Given the description of an element on the screen output the (x, y) to click on. 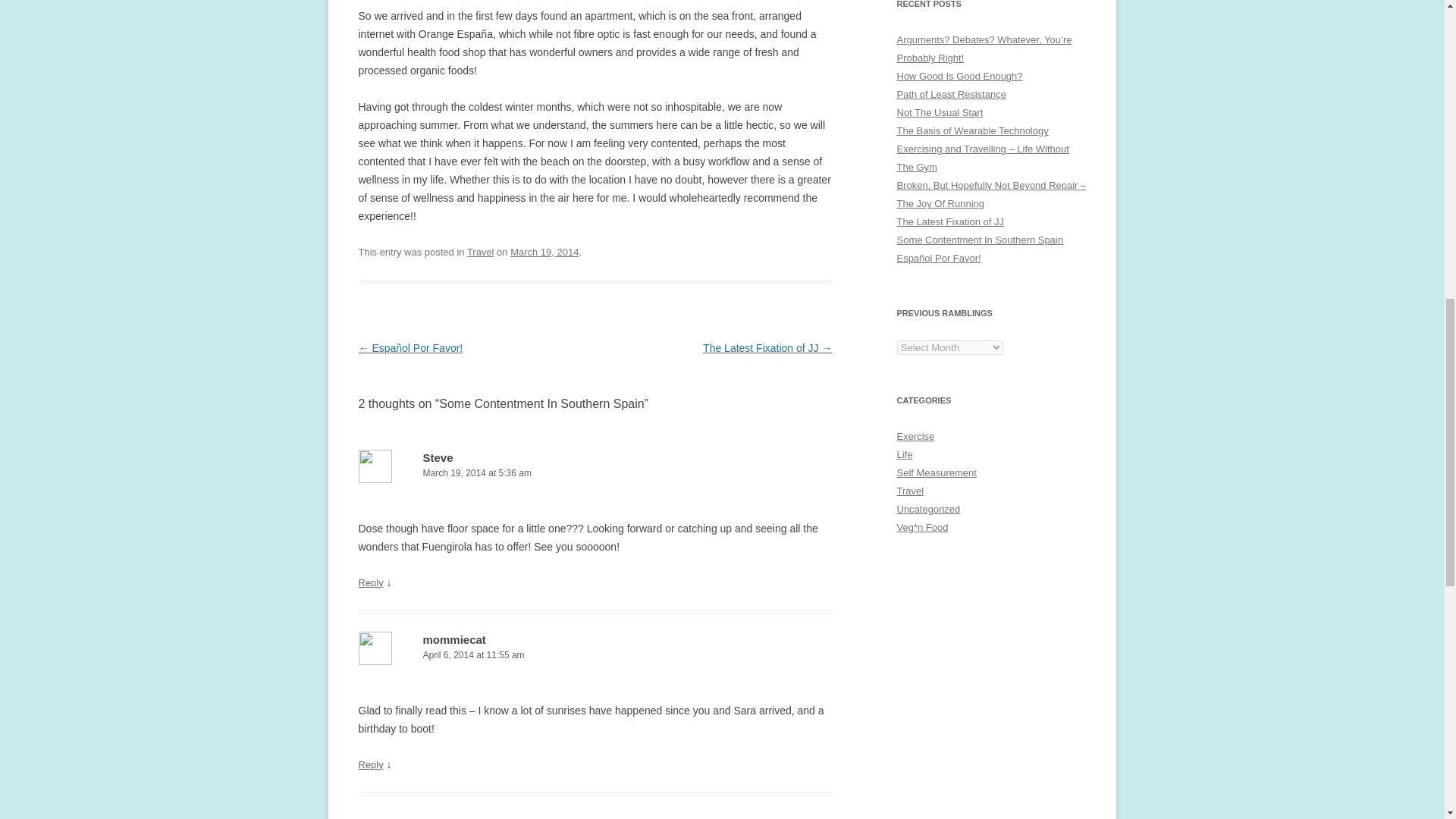
Travel (909, 490)
Some Contentment In Southern Spain (979, 239)
The Latest Fixation of JJ (949, 221)
March 19, 2014 (544, 251)
4:02 am (544, 251)
Travel (481, 251)
Life (904, 454)
Reply (370, 582)
Uncategorized (927, 509)
April 6, 2014 at 11:55 am (594, 655)
Path of Least Resistance (951, 93)
Not The Usual Start (939, 112)
Reply (370, 764)
The Basis of Wearable Technology (972, 130)
Exercise (915, 436)
